Given the description of an element on the screen output the (x, y) to click on. 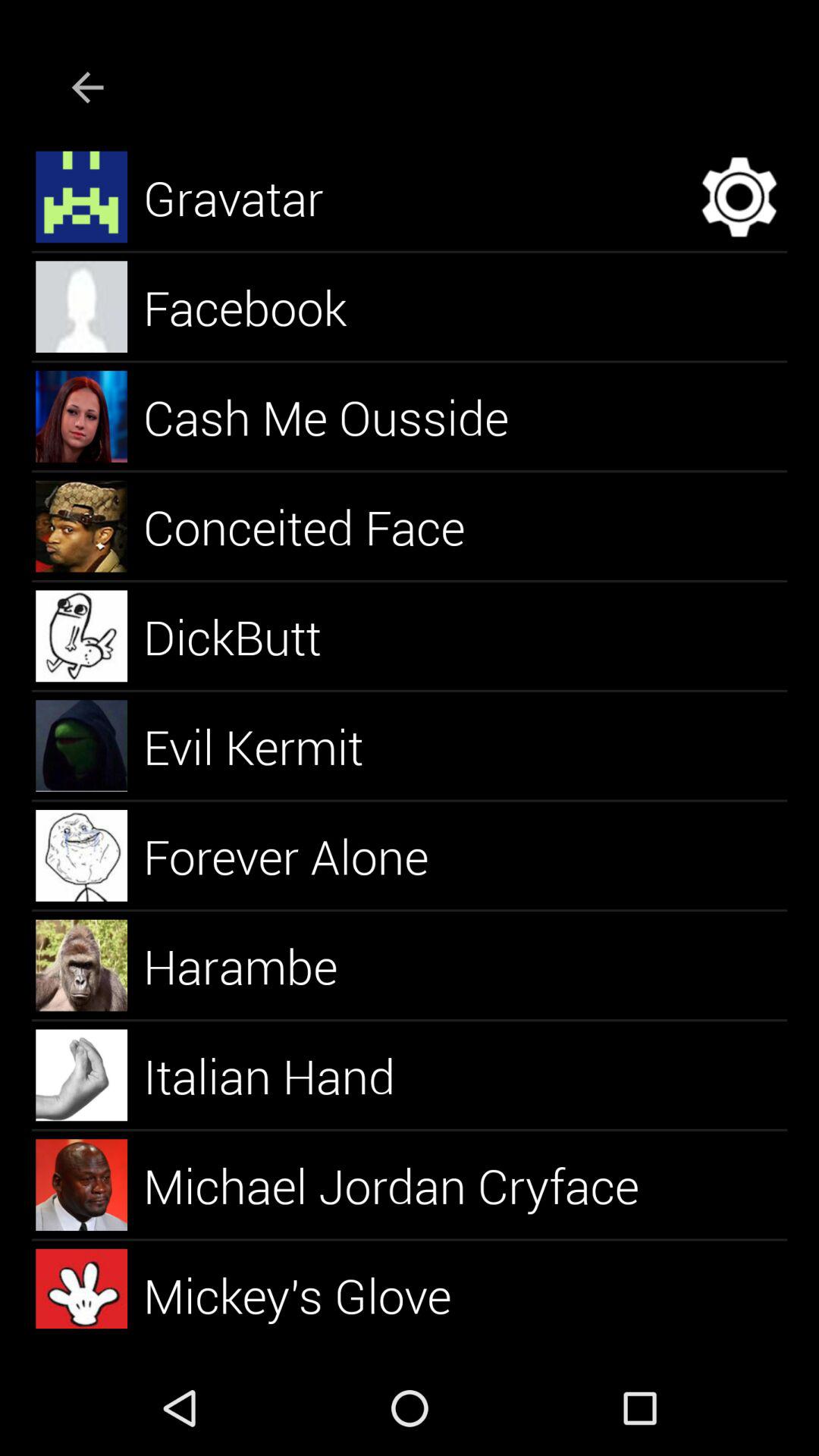
swipe to the mickey's glove icon (315, 1287)
